Given the description of an element on the screen output the (x, y) to click on. 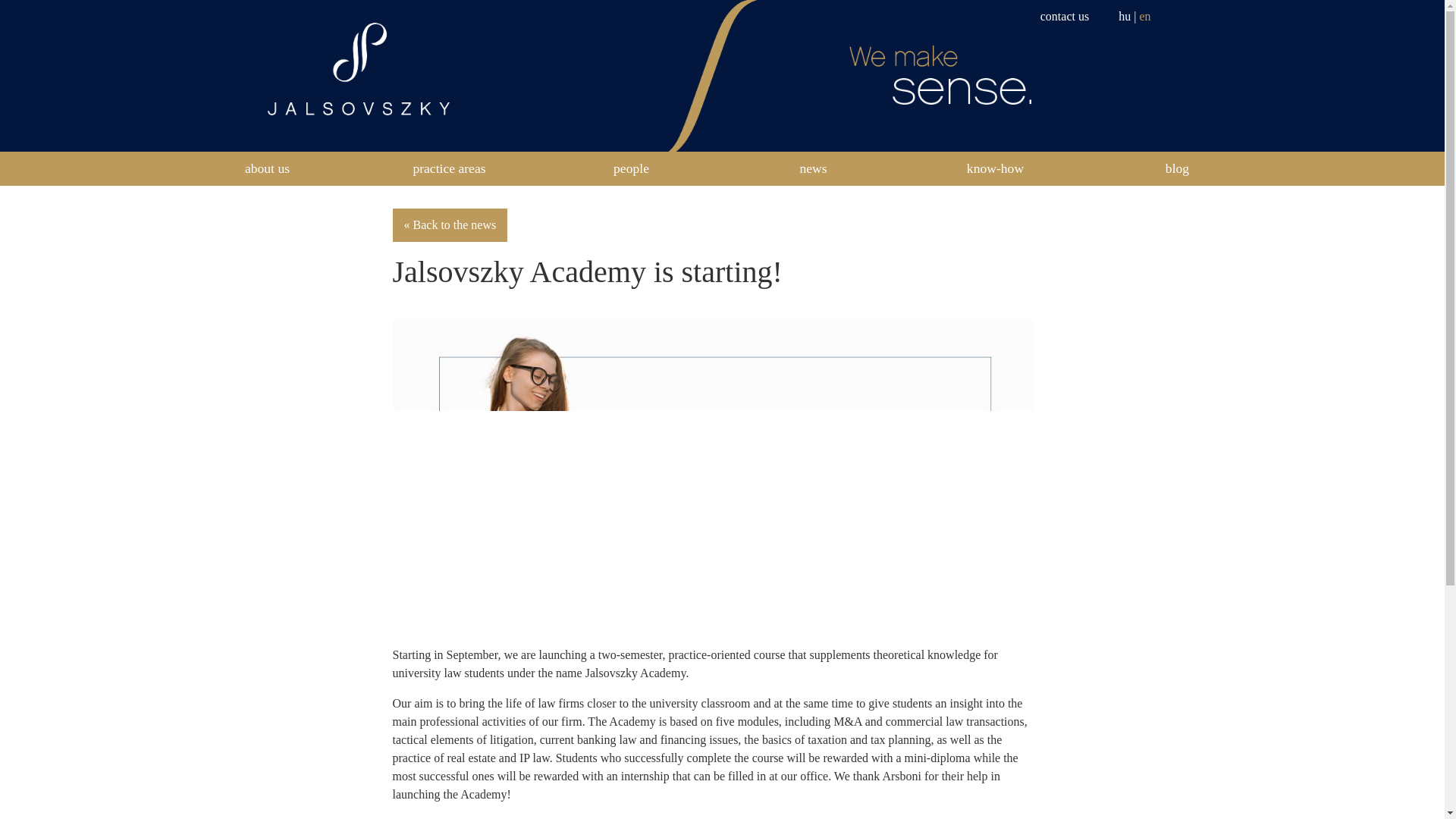
about us (266, 168)
hu (1124, 15)
people (630, 168)
contact us (1065, 15)
practice areas (448, 168)
know-how (994, 168)
